Given the description of an element on the screen output the (x, y) to click on. 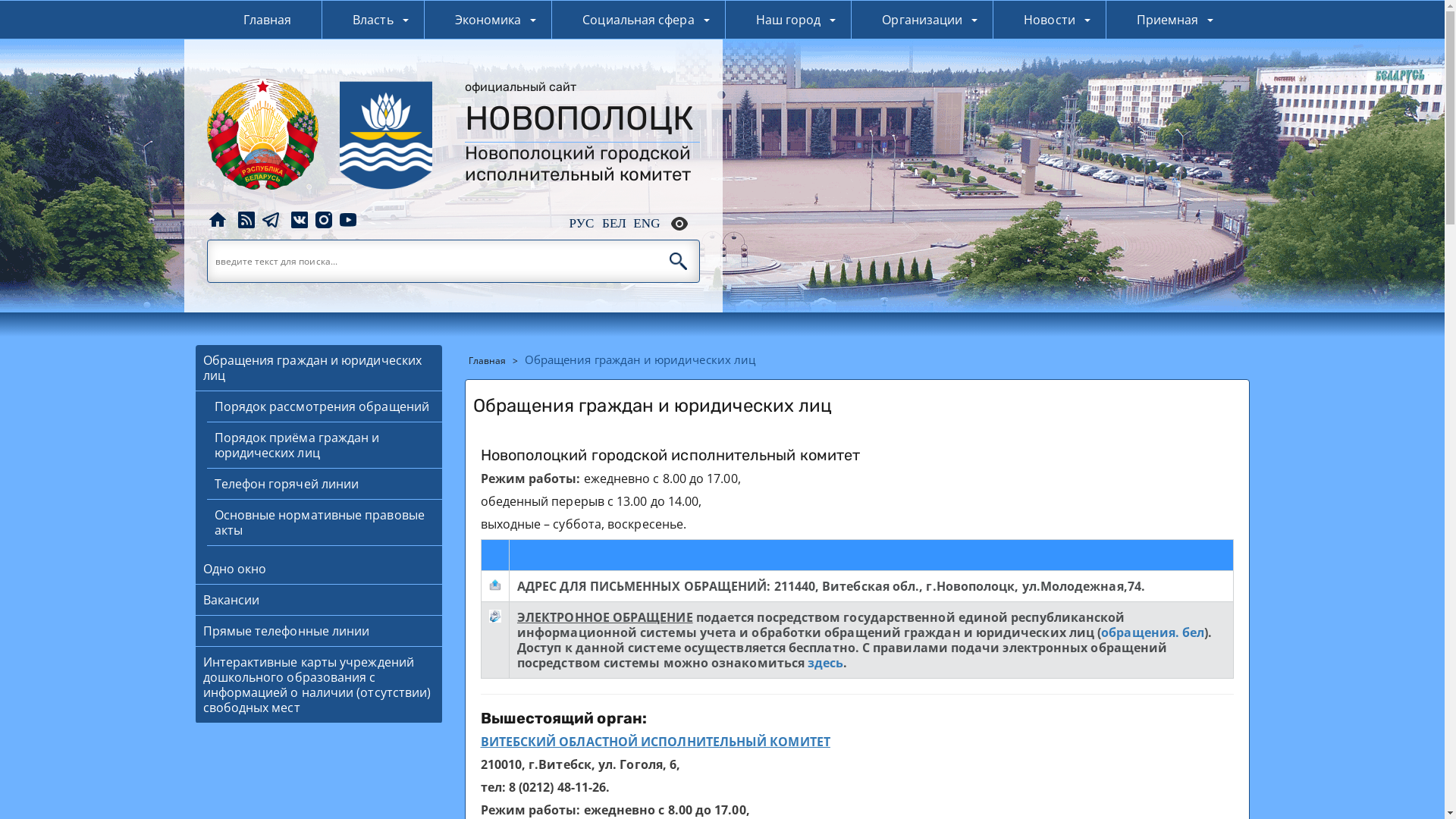
Youtube Element type: hover (346, 218)
Telegram Element type: hover (269, 218)
ENG Element type: text (645, 222)
Instagram Element type: hover (324, 218)
RSS Element type: hover (247, 218)
VK Element type: hover (300, 218)
